Given the description of an element on the screen output the (x, y) to click on. 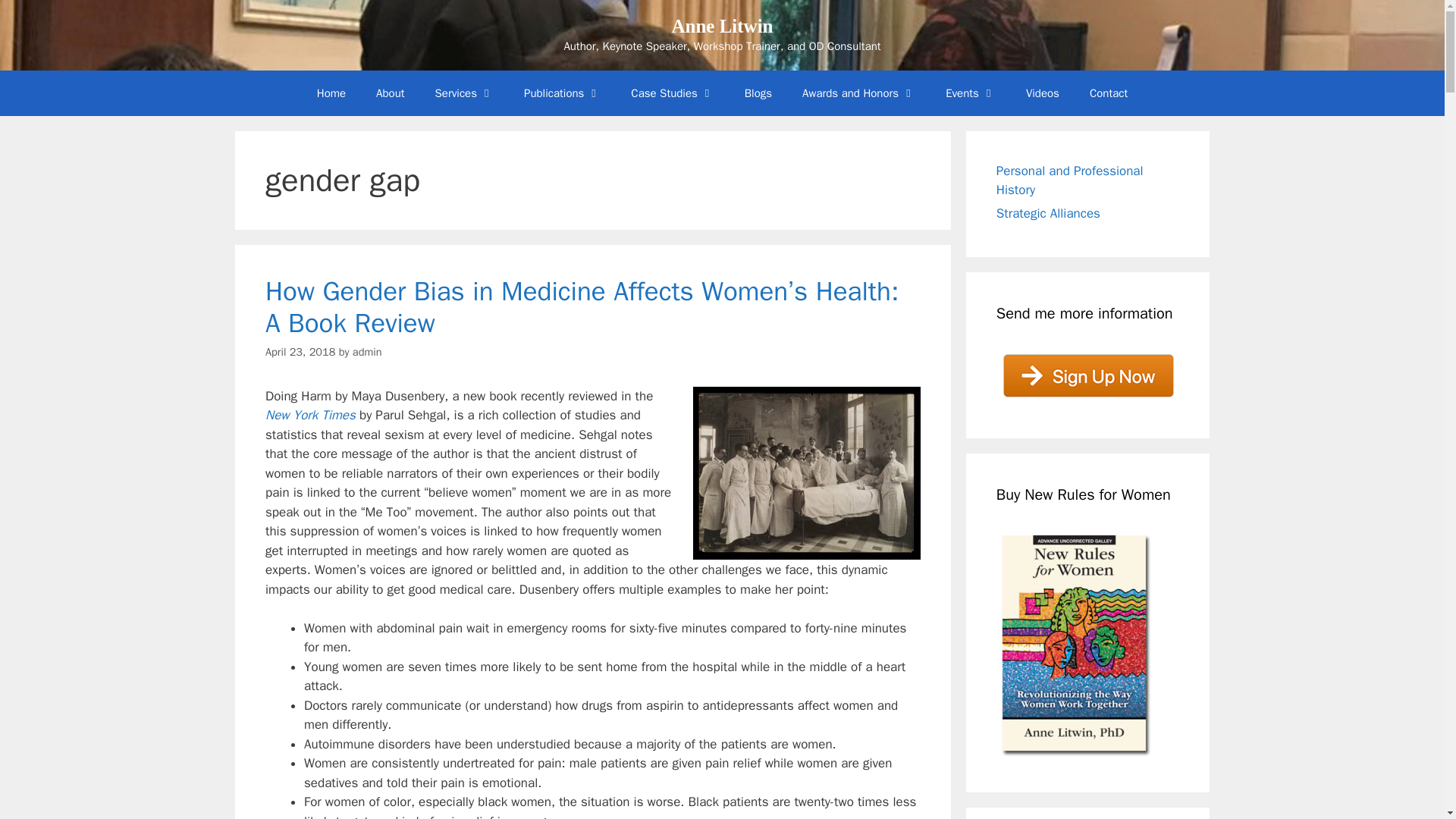
Services (464, 92)
New York Times (309, 415)
Contact (1108, 92)
admin (366, 351)
Anne Litwin (722, 25)
Blogs (758, 92)
Home (331, 92)
About (390, 92)
Publications (561, 92)
Videos (1042, 92)
Events (970, 92)
